Given the description of an element on the screen output the (x, y) to click on. 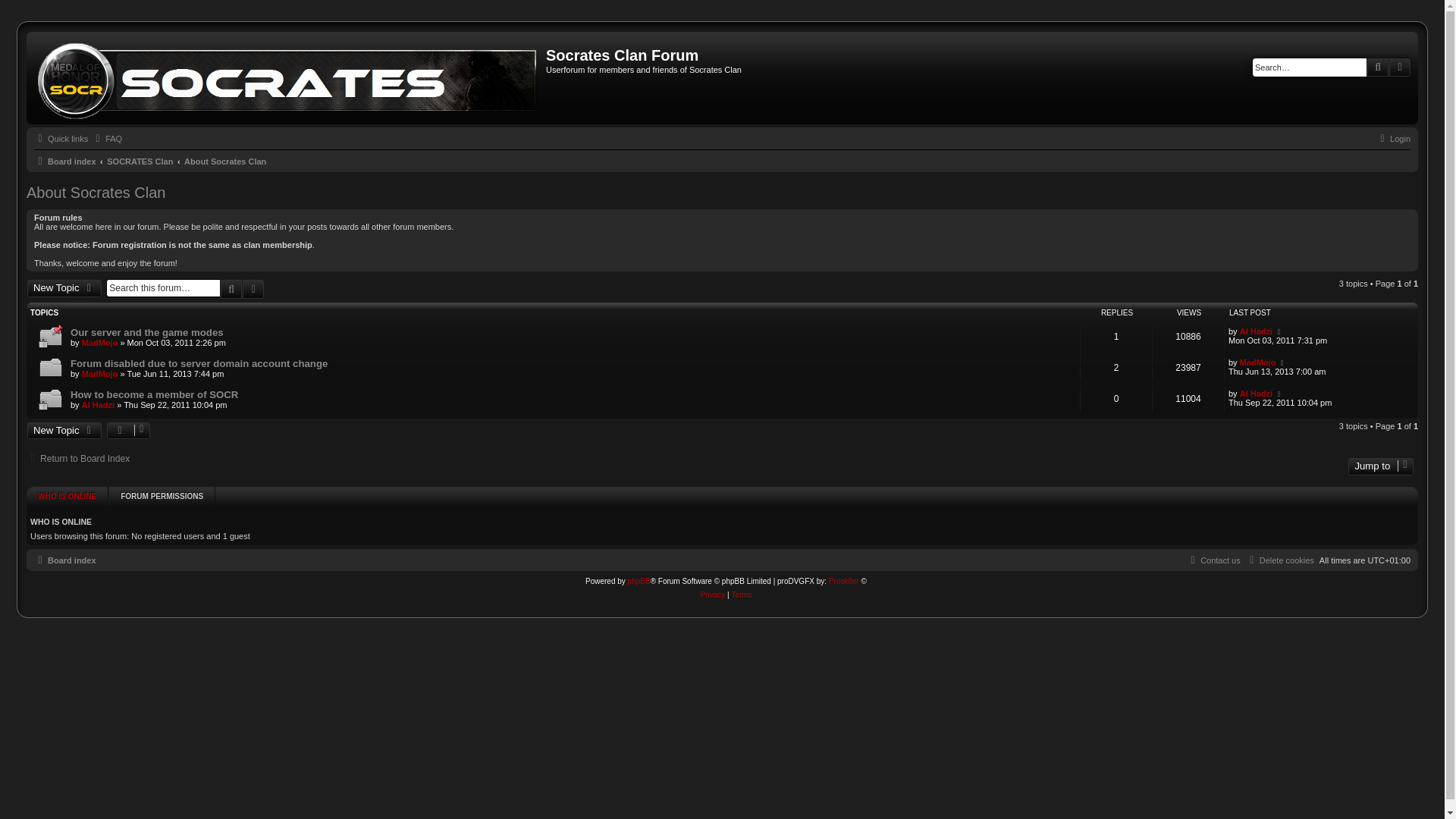
Go to last post (1282, 361)
MadMojo (99, 342)
SOCRATES Clan (139, 161)
Post a new topic (63, 288)
Advanced search (1399, 67)
Search (1378, 67)
Board index (288, 78)
Advanced search (253, 288)
FAQ (106, 138)
Quick links (60, 138)
